Given the description of an element on the screen output the (x, y) to click on. 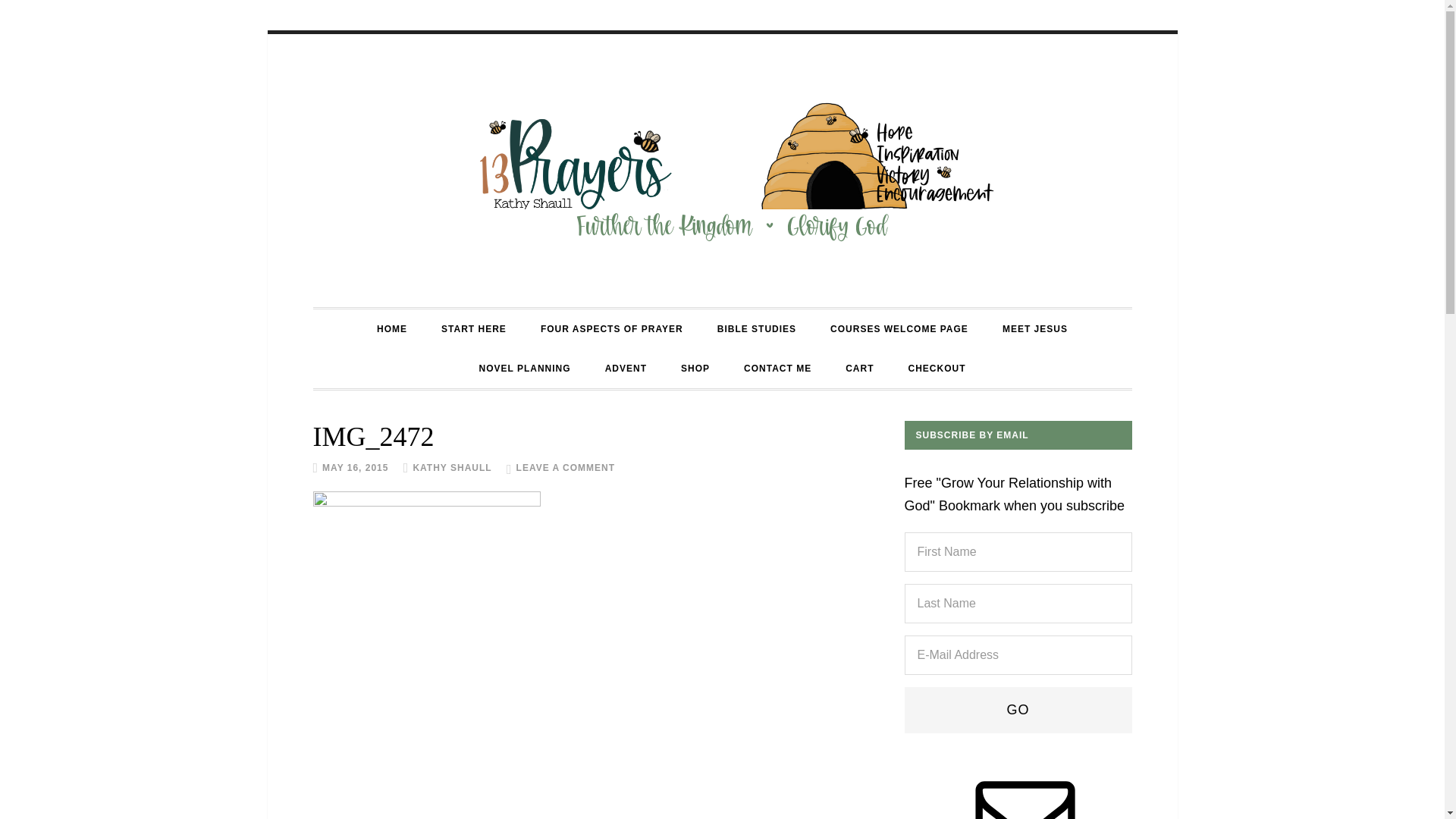
BIBLE STUDIES Element type: text (756, 328)
CONTACT ME Element type: text (777, 368)
KATHY SHAULL Element type: text (451, 467)
CHECKOUT Element type: text (937, 368)
LEAVE A COMMENT Element type: text (565, 467)
NOVEL PLANNING Element type: text (525, 368)
ADVENT Element type: text (625, 368)
Go Element type: text (1017, 710)
COURSES WELCOME PAGE Element type: text (899, 328)
FOUR ASPECTS OF PRAYER Element type: text (611, 328)
MEET JESUS Element type: text (1034, 328)
CART Element type: text (859, 368)
SHOP Element type: text (694, 368)
START HERE Element type: text (473, 328)
13 PRAYERS Element type: text (721, 170)
HOME Element type: text (391, 328)
